Given the description of an element on the screen output the (x, y) to click on. 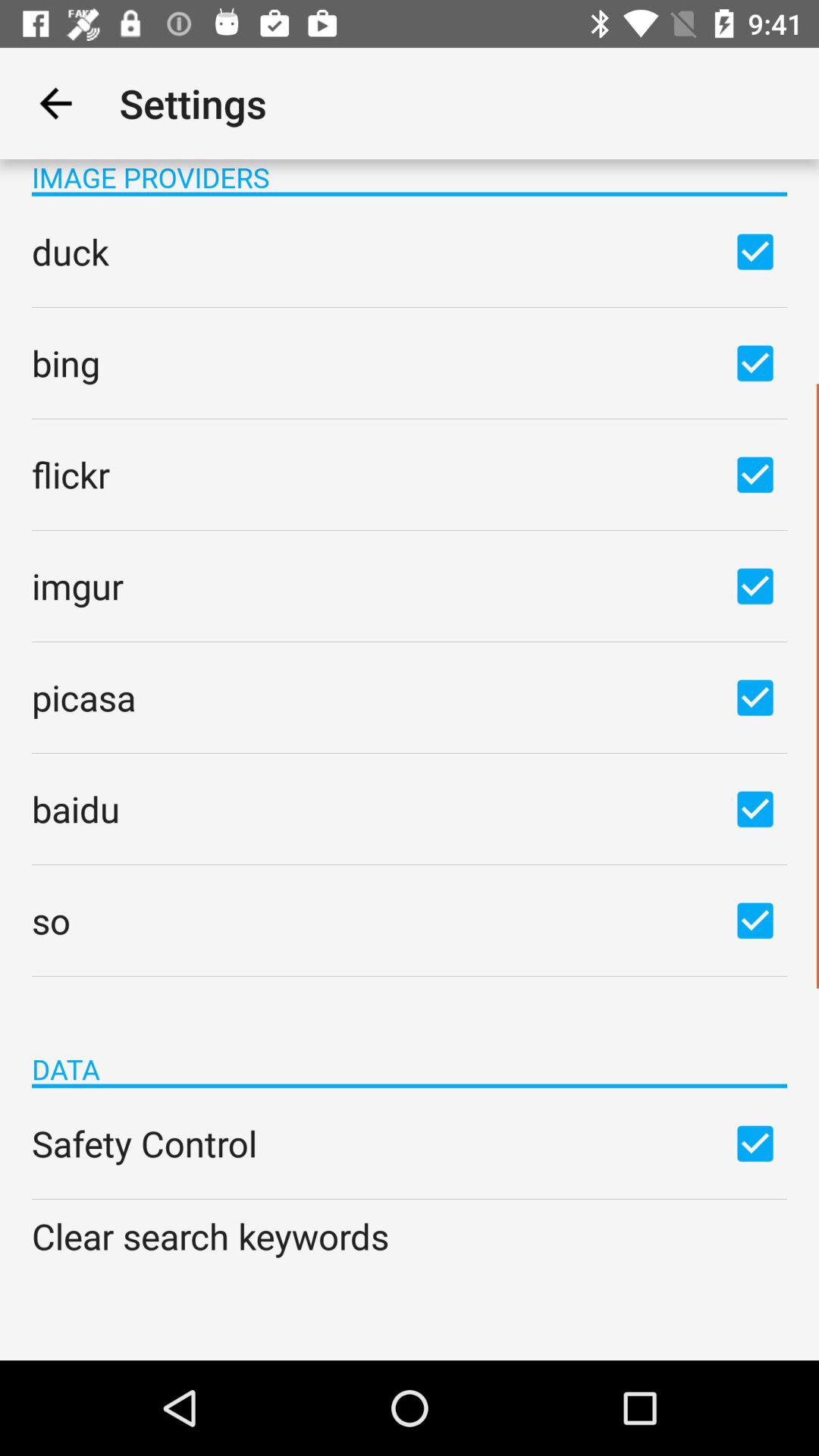
blue checkmark (755, 697)
